Given the description of an element on the screen output the (x, y) to click on. 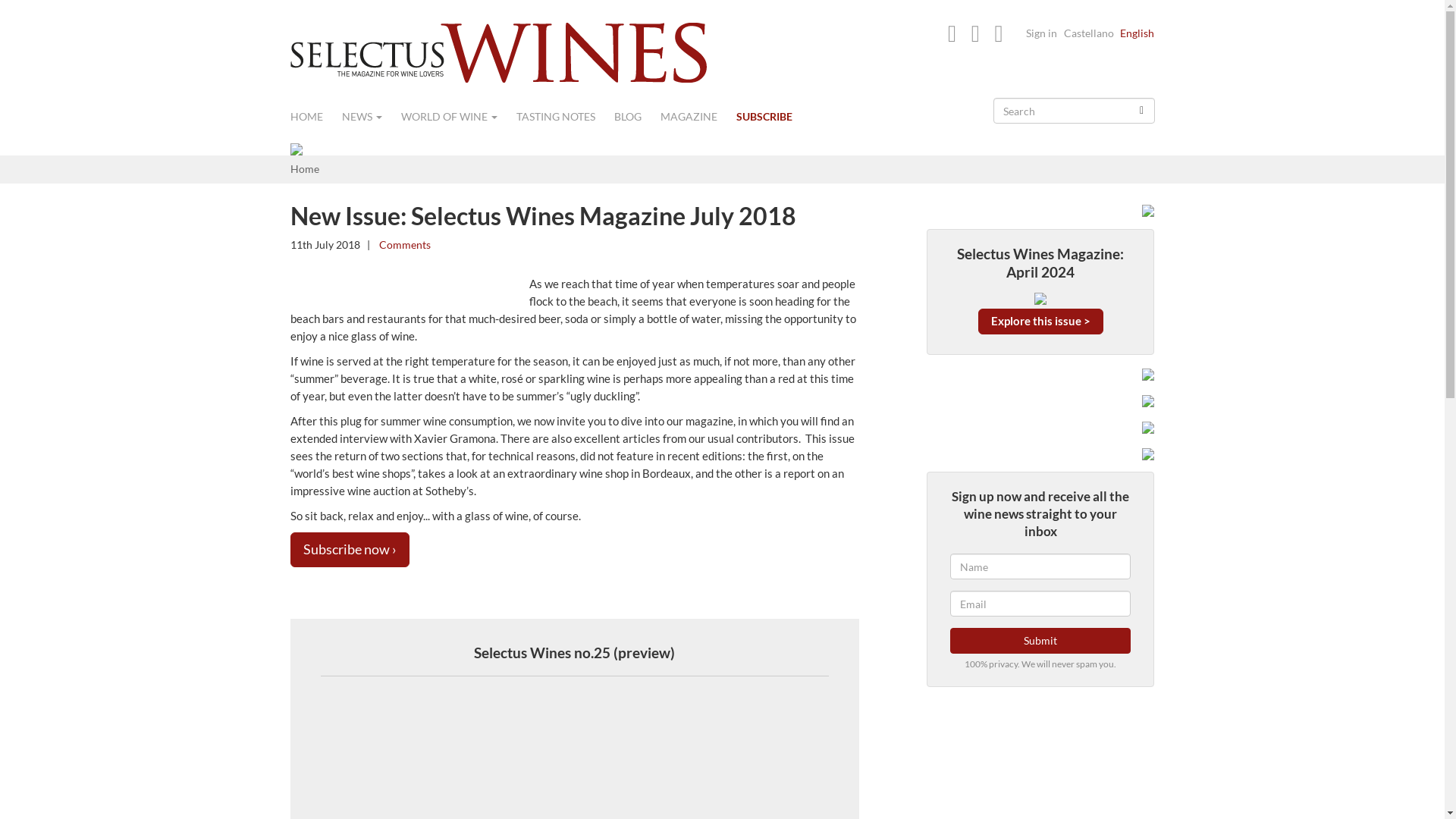
Sign in (1041, 32)
Castellano (1087, 32)
WORLD OF WINE (457, 116)
NEWS (370, 116)
Selectus Wines (497, 51)
Selectus Wines (497, 52)
Sign in (1041, 32)
SUBSCRIBE (772, 116)
Home (303, 168)
BLOG (637, 116)
TASTING NOTES (563, 116)
 Comments (402, 244)
MAGAZINE (697, 116)
HOME (314, 116)
